Given the description of an element on the screen output the (x, y) to click on. 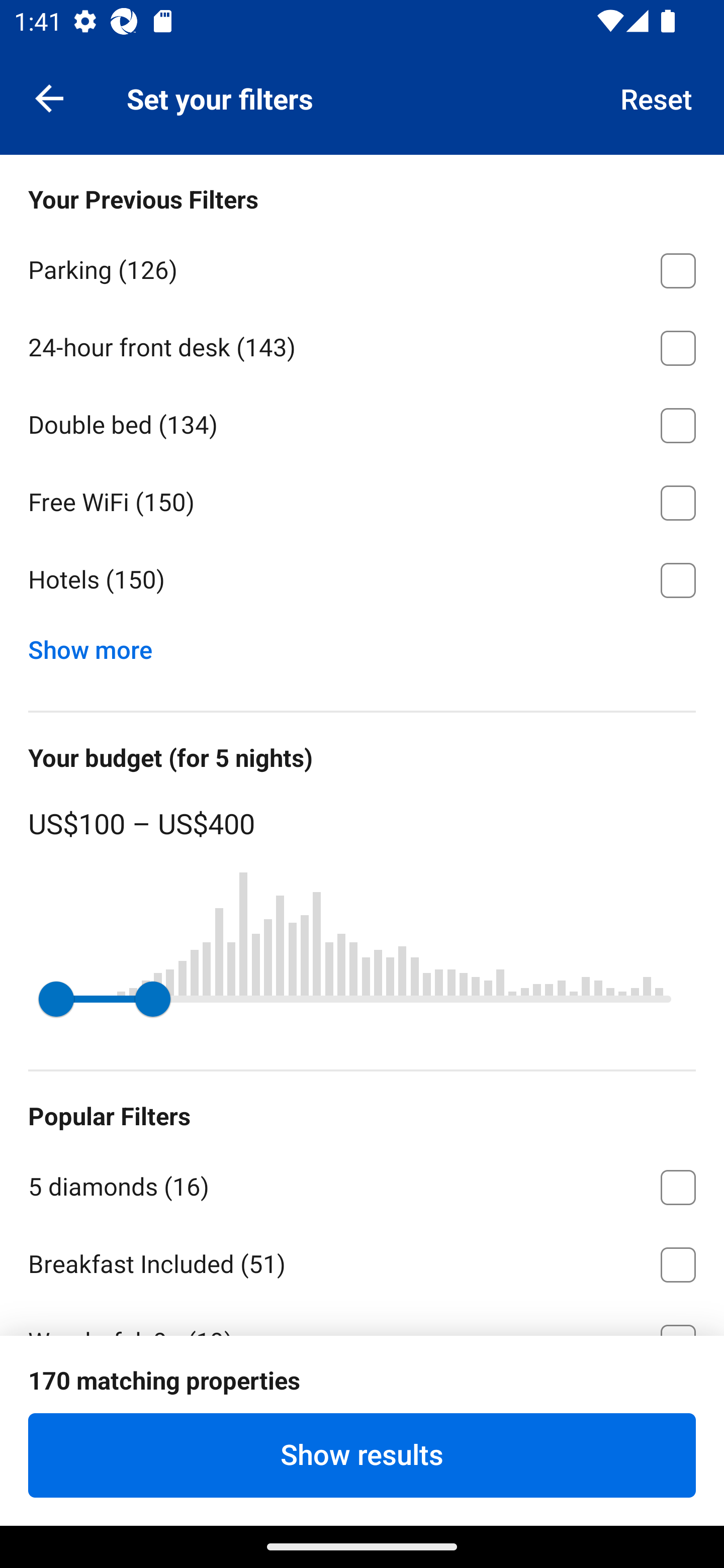
Navigate up (49, 97)
Reset (656, 97)
Parking ⁦(126) (361, 266)
24-hour front desk ⁦(143) (361, 344)
Double bed ⁦(134) (361, 422)
Free WiFi ⁦(150) (361, 498)
Hotels ⁦(150) (361, 579)
Show more (97, 645)
100.0 Range start,US$100 400.0 Range end,US$400 (361, 998)
5 diamonds ⁦(16) (361, 1183)
Breakfast Included ⁦(51) (361, 1261)
Show results (361, 1454)
